Given the description of an element on the screen output the (x, y) to click on. 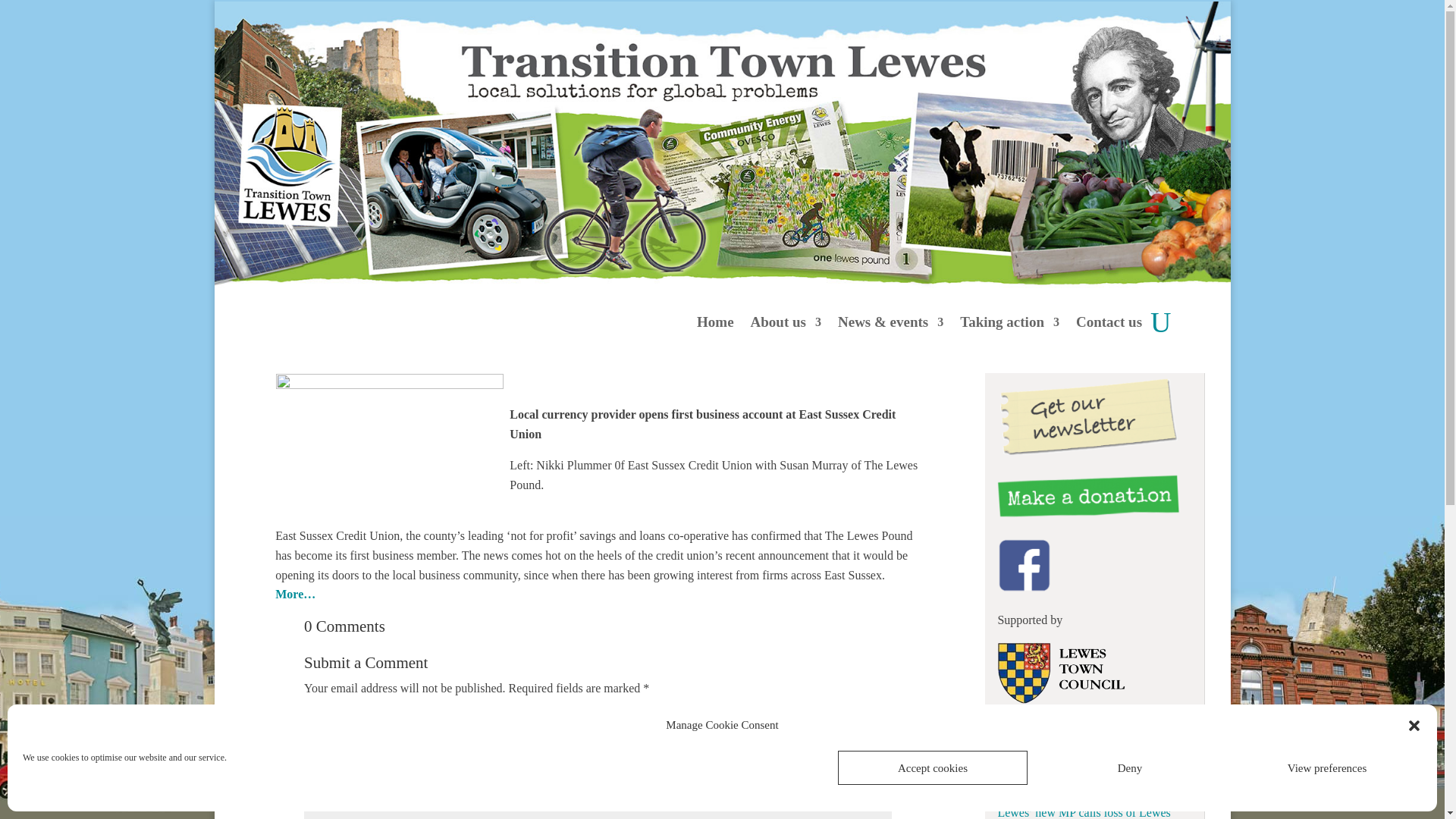
Contact us (1108, 322)
About us (786, 322)
Taking action (1009, 322)
Accept cookies (932, 767)
View preferences (1326, 767)
Deny (1129, 767)
